Given the description of an element on the screen output the (x, y) to click on. 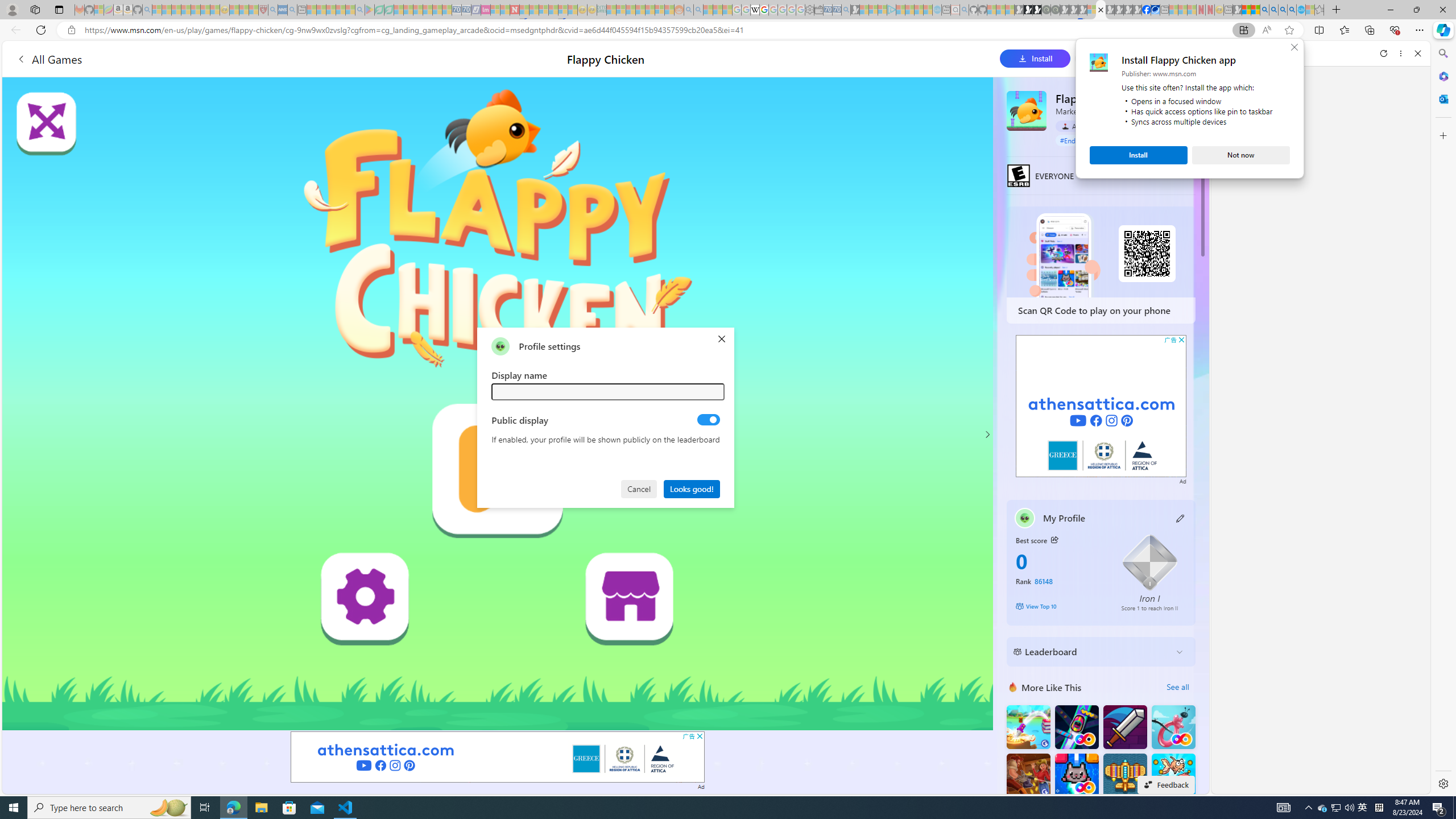
View Top 10 (1322, 807)
Leaderboard (1060, 605)
Atlantic Sky Hunter (1091, 651)
Class: text-input (1124, 775)
Settings - Sleeping (608, 391)
